Given the description of an element on the screen output the (x, y) to click on. 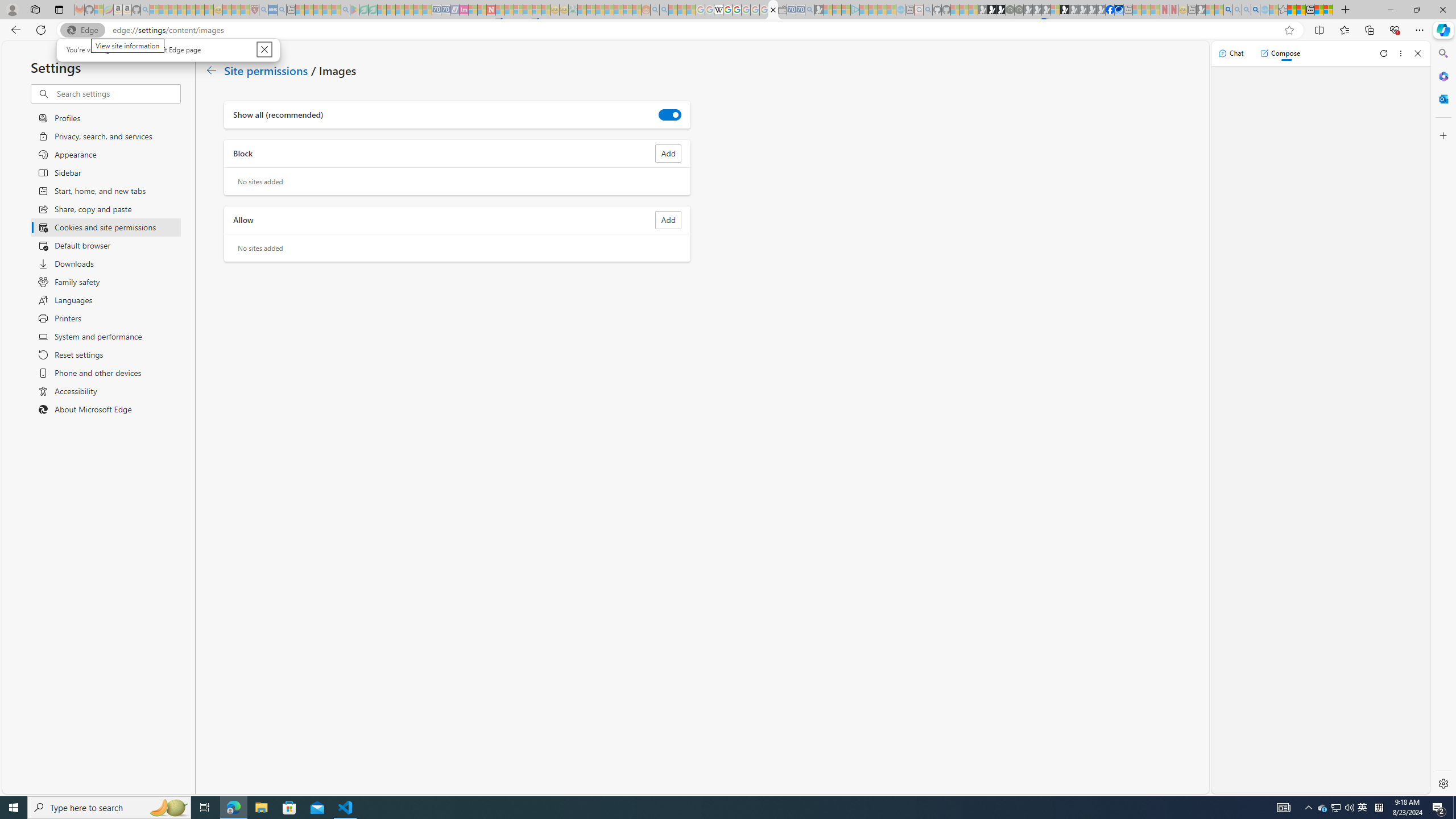
Add site to Block list (668, 153)
Bing AI - Search (1227, 9)
File Explorer (261, 807)
